Given the description of an element on the screen output the (x, y) to click on. 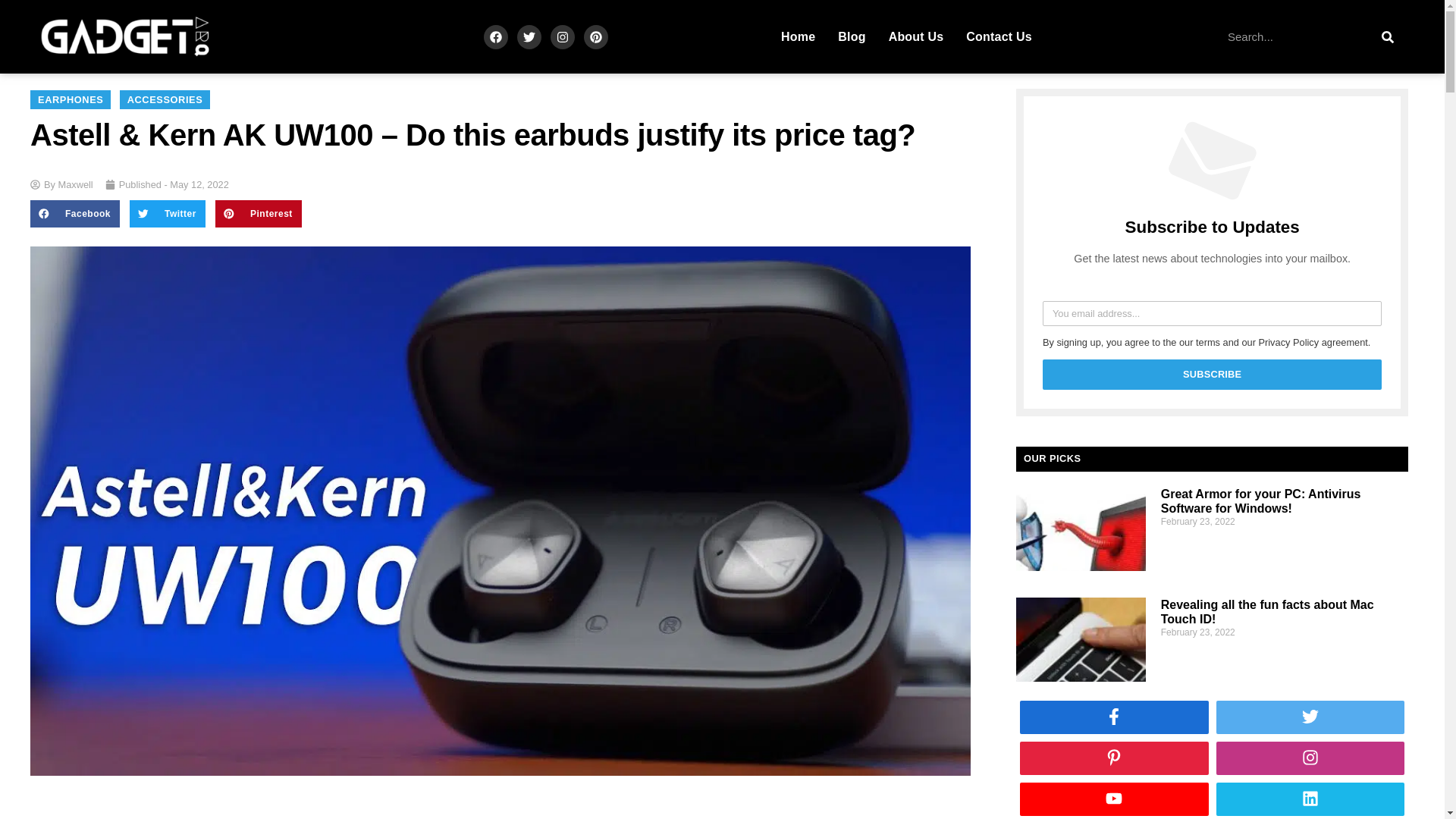
Contact Us (998, 36)
EARPHONES (70, 99)
ACCESSORIES (165, 99)
Home (797, 36)
By Maxwell (61, 184)
About Us (915, 36)
